Given the description of an element on the screen output the (x, y) to click on. 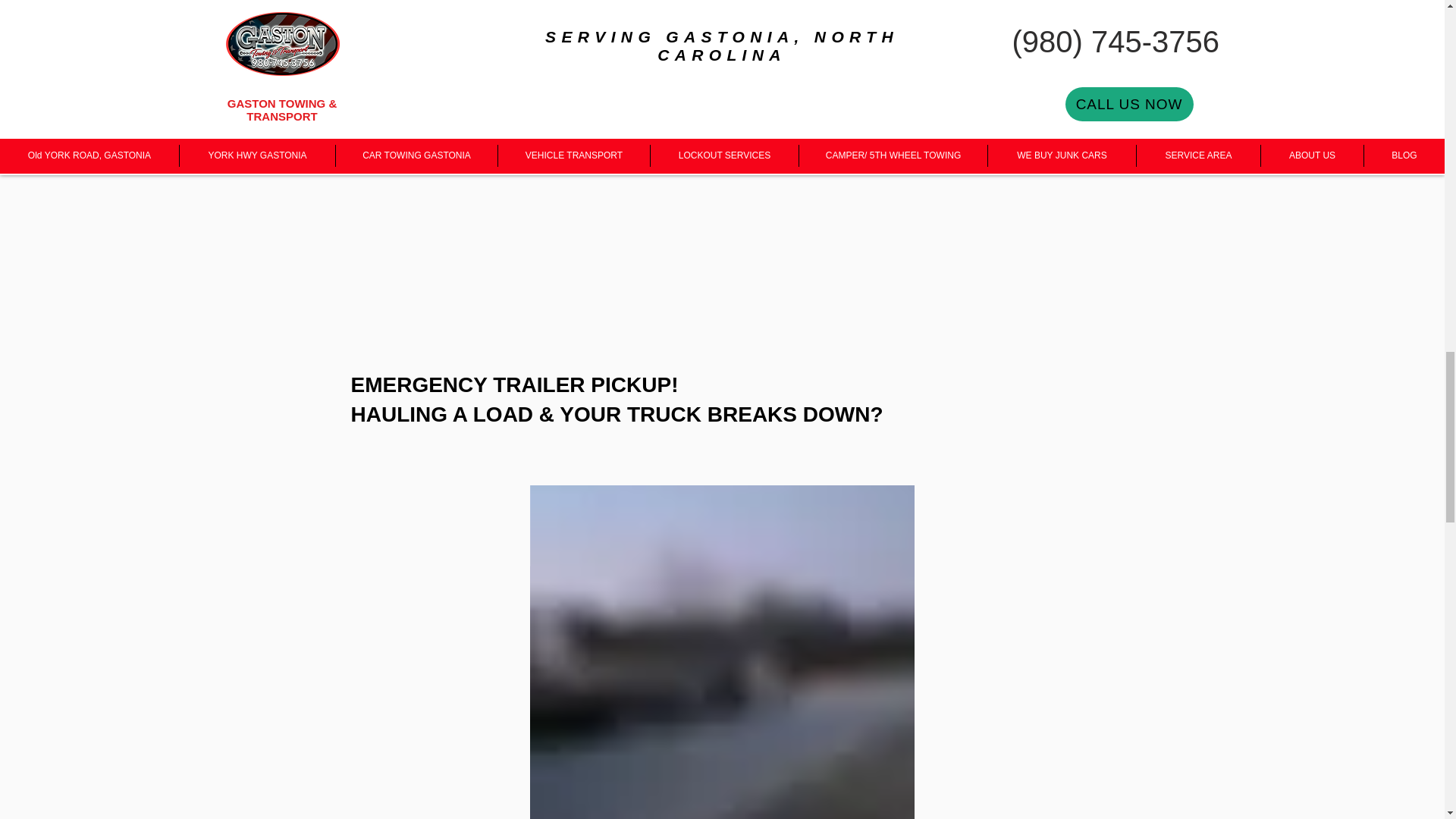
CALL NOW (1167, 110)
